Given the description of an element on the screen output the (x, y) to click on. 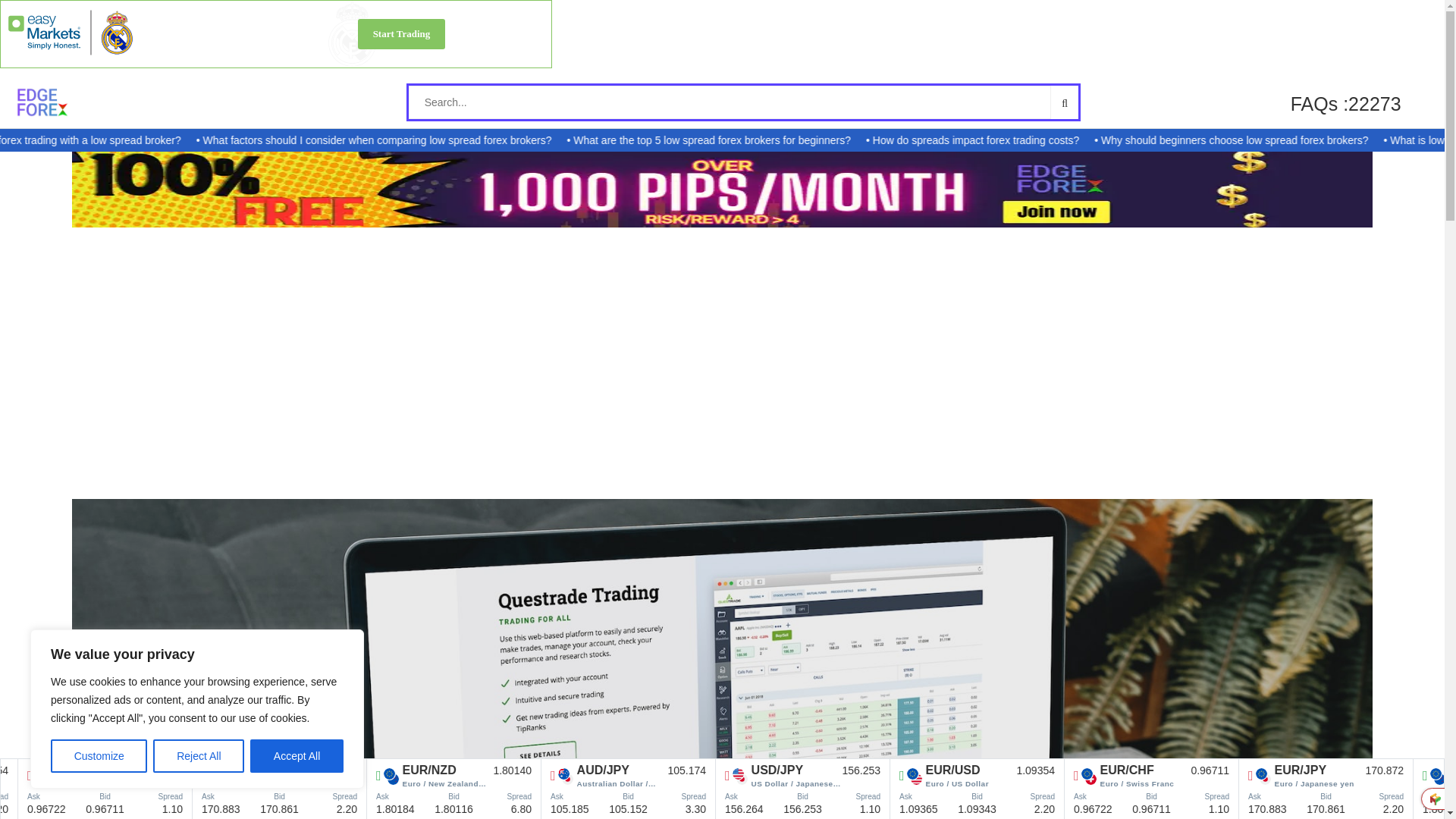
How do spreads impact forex trading costs? (1039, 140)
Accept All (296, 756)
How can I start forex trading with a low spread broker? (125, 140)
Customize (98, 756)
Reject All (198, 756)
What are the top 5 low spread forex brokers for beginners? (776, 140)
Why should beginners choose low spread forex brokers? (1295, 140)
